Given the description of an element on the screen output the (x, y) to click on. 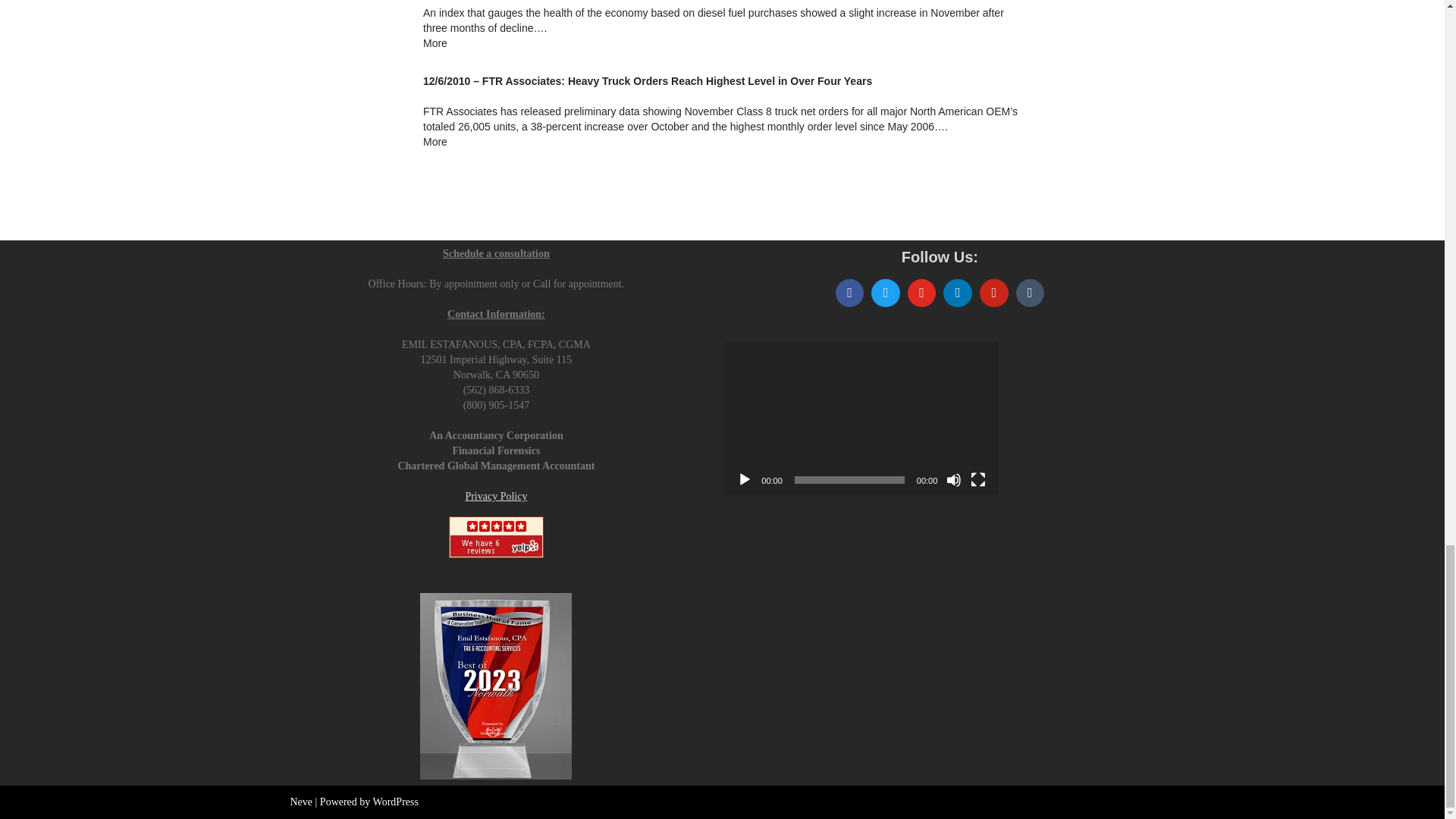
Default Label (993, 293)
Fullscreen (978, 479)
Twitter (885, 293)
Instagram (922, 293)
Default Label (1029, 293)
Default Label (957, 293)
Facebook (849, 293)
Play (744, 479)
Mute (953, 479)
